Given the description of an element on the screen output the (x, y) to click on. 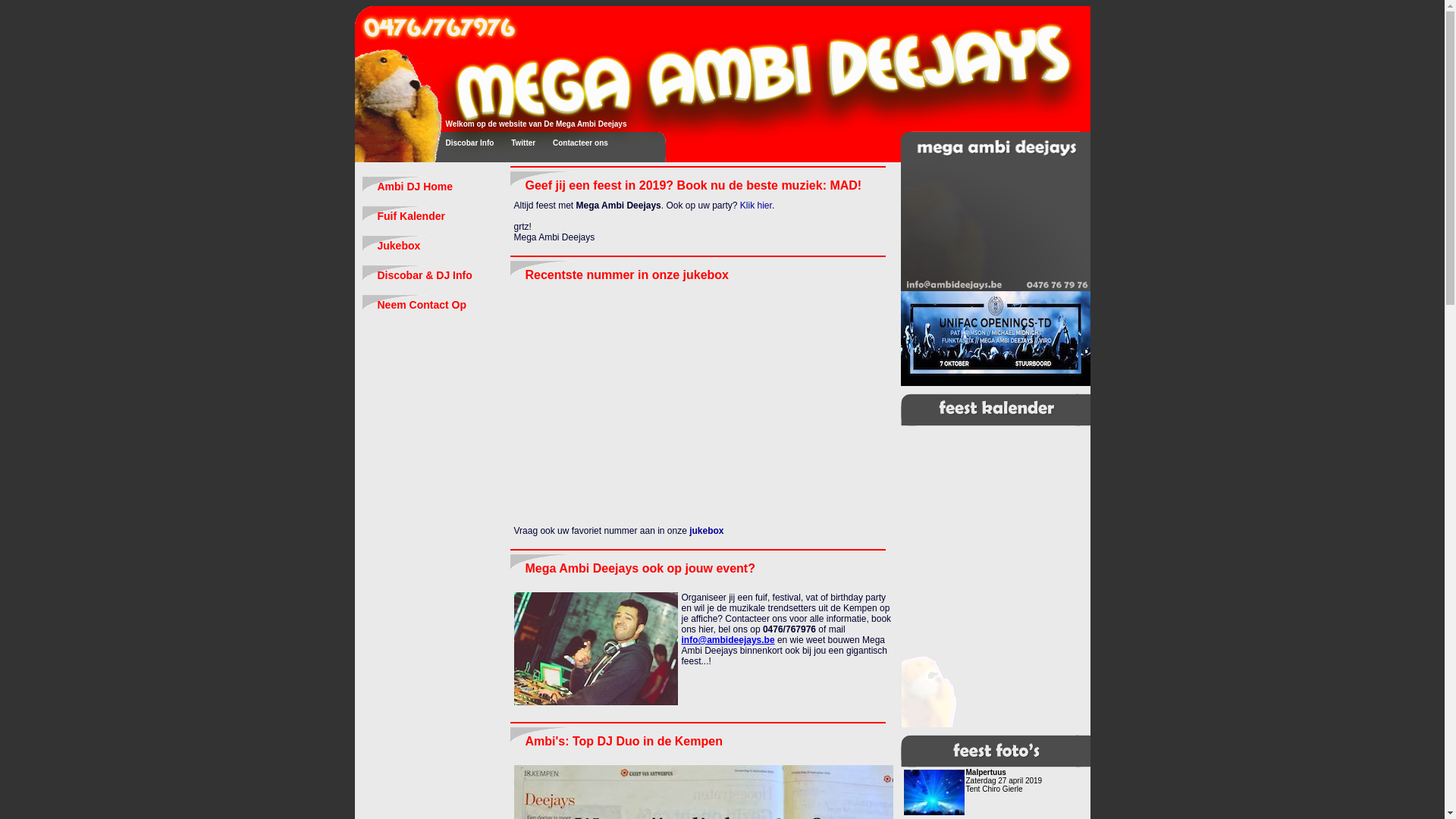
Neem Contact Op Element type: text (428, 303)
Jukebox Element type: text (428, 244)
Fuif Kalender Element type: text (428, 214)
Twitter Element type: text (515, 142)
Discobar & DJ Info Element type: text (428, 274)
info@ambideejays.be Element type: text (727, 639)
nieuwsbrief Element type: text (567, 123)
Contacteer ons Element type: text (572, 142)
Klik hier Element type: text (755, 205)
Malpertuus
Zaterdag 27 april 2019
Tent Chiro Gierle Element type: text (994, 792)
Geef jij een feest in 2019? Book nu de beste muziek: MAD! Element type: text (692, 184)
Discobar Info Element type: text (462, 142)
jukebox Element type: text (706, 530)
Ambi's: Top DJ Duo in de Kempen Element type: text (622, 740)
Ambi DJ Home Element type: text (428, 185)
Mega Ambi Deejays ook op jouw event? Element type: text (639, 567)
Recentste nummer in onze jukebox Element type: text (626, 274)
